Given the description of an element on the screen output the (x, y) to click on. 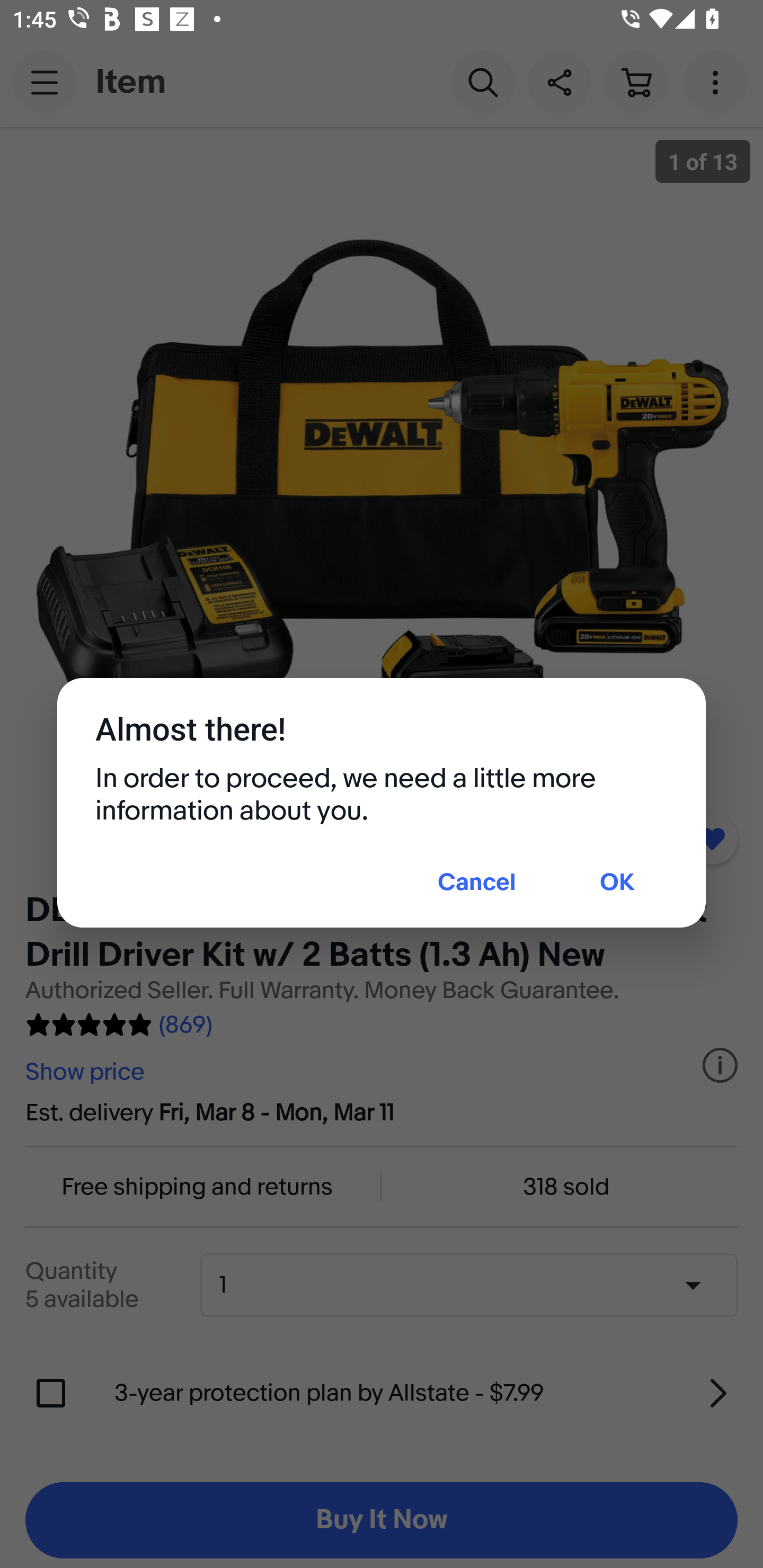
Cancel (476, 883)
OK (616, 883)
